Given the description of an element on the screen output the (x, y) to click on. 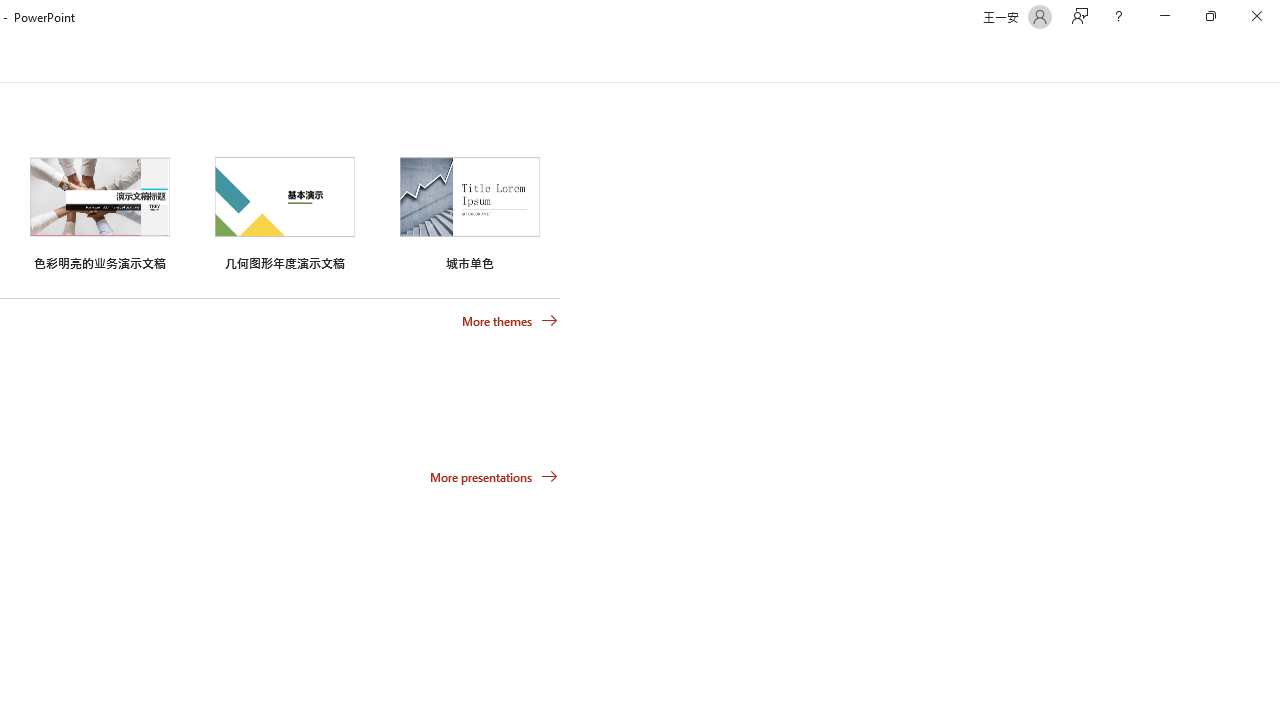
More presentations (493, 476)
Class: NetUIScrollBar (1271, 59)
More themes (509, 321)
